Given the description of an element on the screen output the (x, y) to click on. 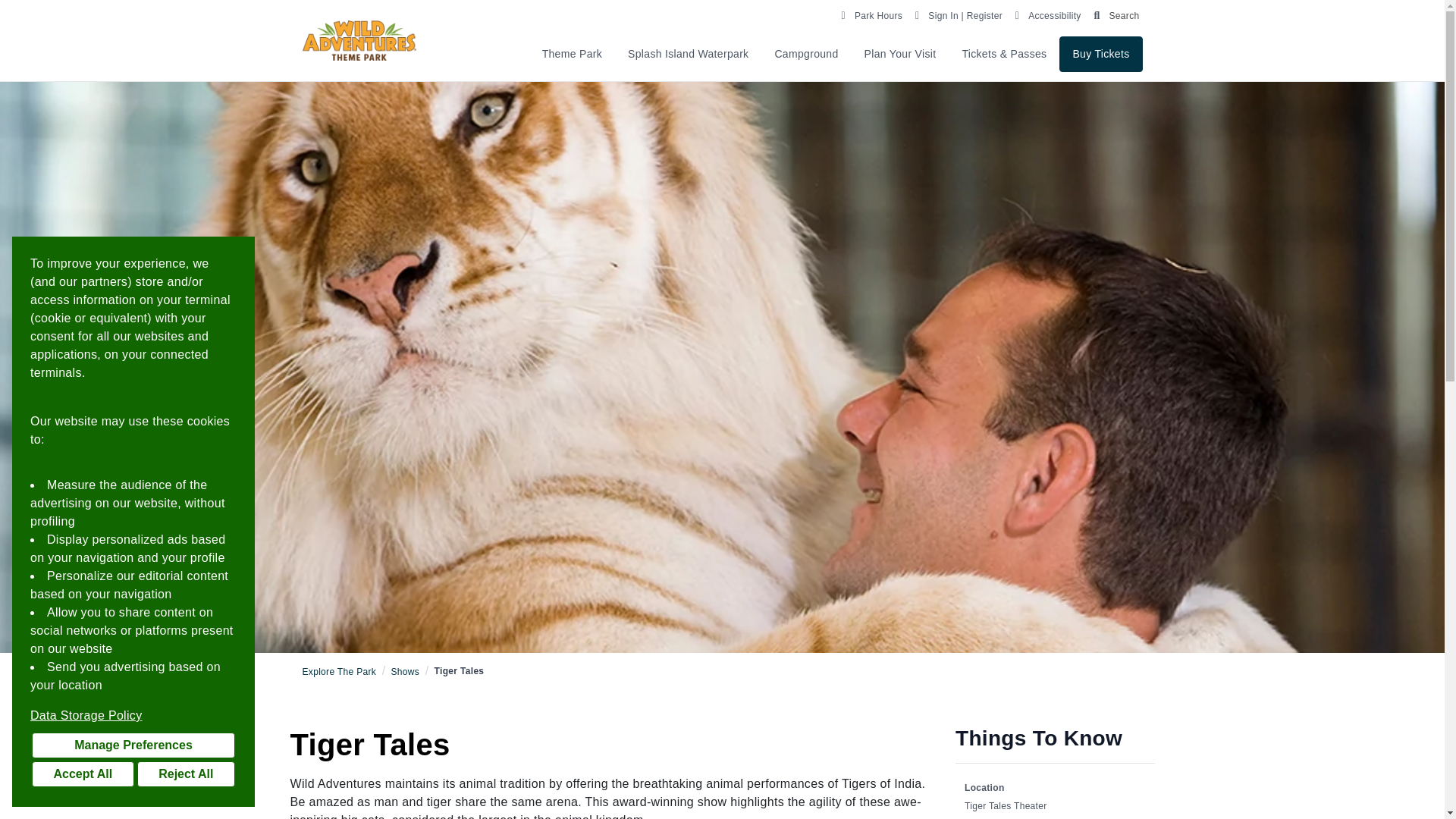
Search (1112, 14)
Accessibility (1046, 14)
Manage Preferences (133, 745)
Park Hours (870, 14)
Splash Island Waterpark (687, 54)
Reject All (185, 774)
Theme Park (571, 54)
Accept All (82, 774)
Data Storage Policy (132, 715)
